Given the description of an element on the screen output the (x, y) to click on. 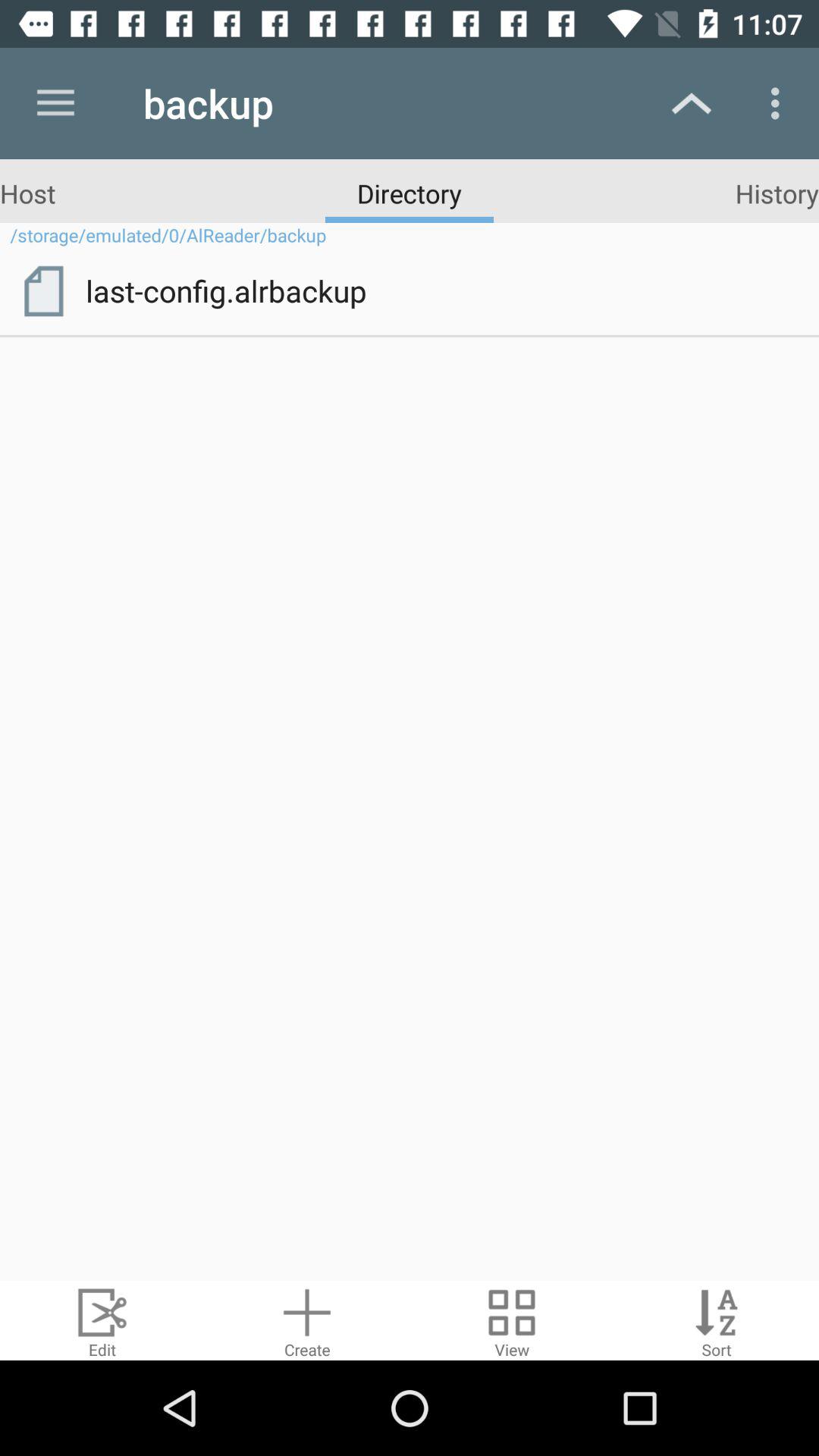
swipe to the last-config.alrbackup (441, 290)
